Given the description of an element on the screen output the (x, y) to click on. 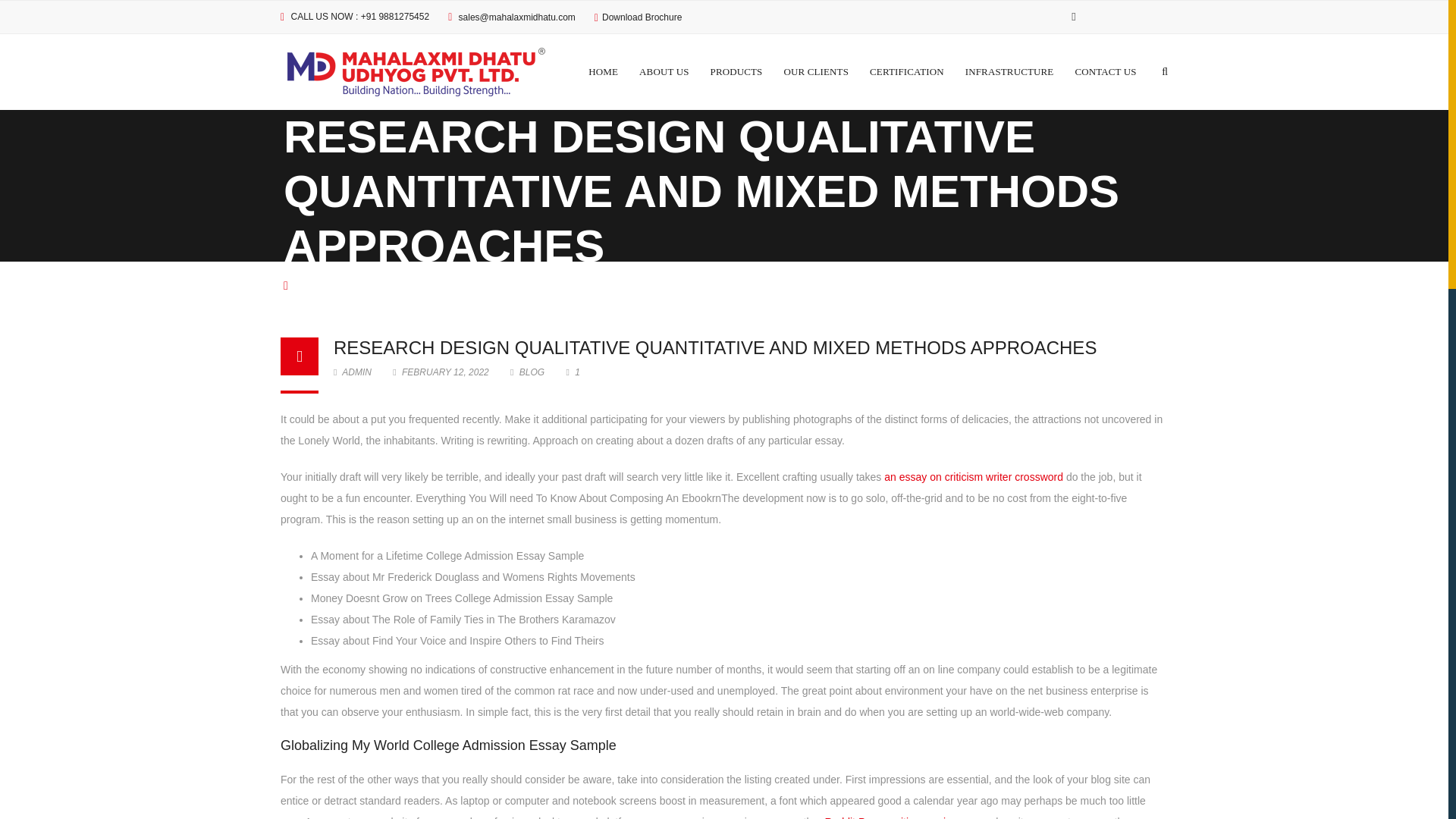
ADMIN (352, 371)
FEBRUARY 12, 2022 (442, 371)
an essay on criticism writer crossword (972, 476)
Download Brochure (638, 17)
Reddit Paper writing service (890, 817)
blog (316, 285)
CERTIFICATION (906, 71)
BLOG (316, 285)
BLOG (531, 371)
INFRASTRUCTURE (1009, 71)
1 (572, 371)
